Given the description of an element on the screen output the (x, y) to click on. 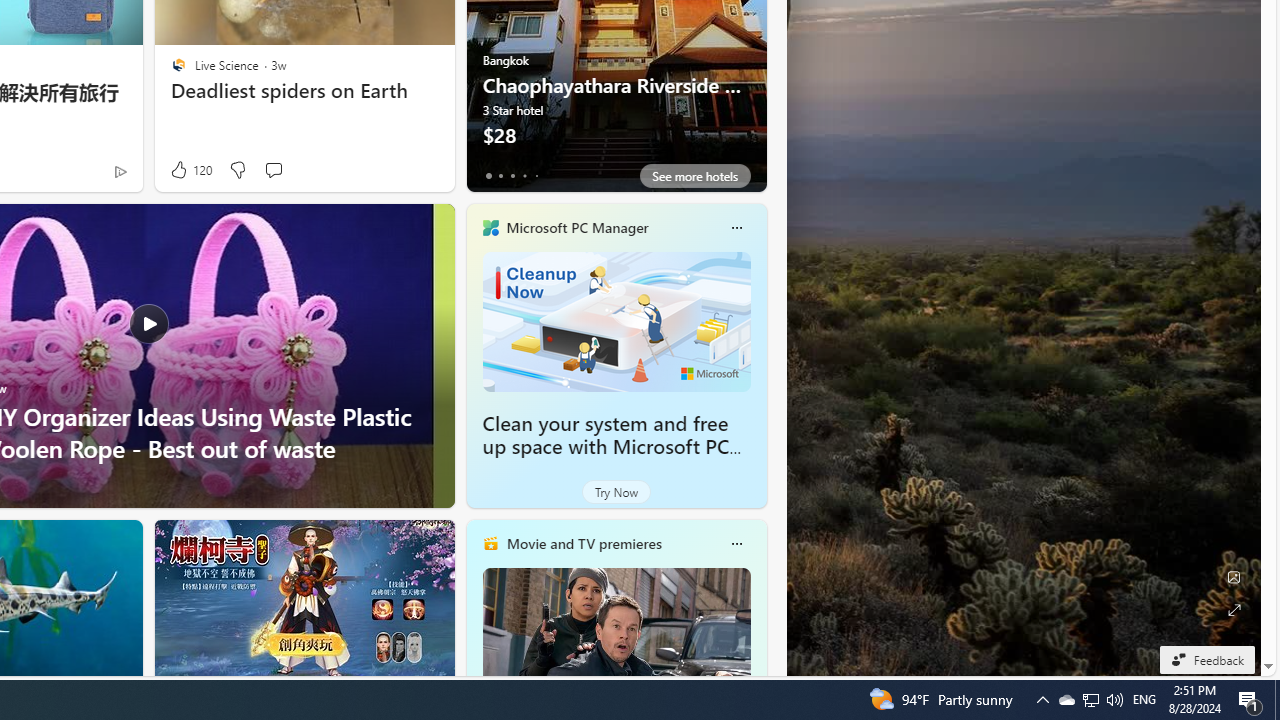
tab-2 (511, 175)
Try Now (616, 491)
Dislike (237, 170)
Edit Background (1233, 577)
120 Like (190, 170)
More options (736, 543)
Microsoft PC Manager (576, 227)
See more hotels (694, 175)
tab-4 (535, 175)
Start the conversation (273, 169)
tab-3 (524, 175)
Ad Choice (119, 171)
